Given the description of an element on the screen output the (x, y) to click on. 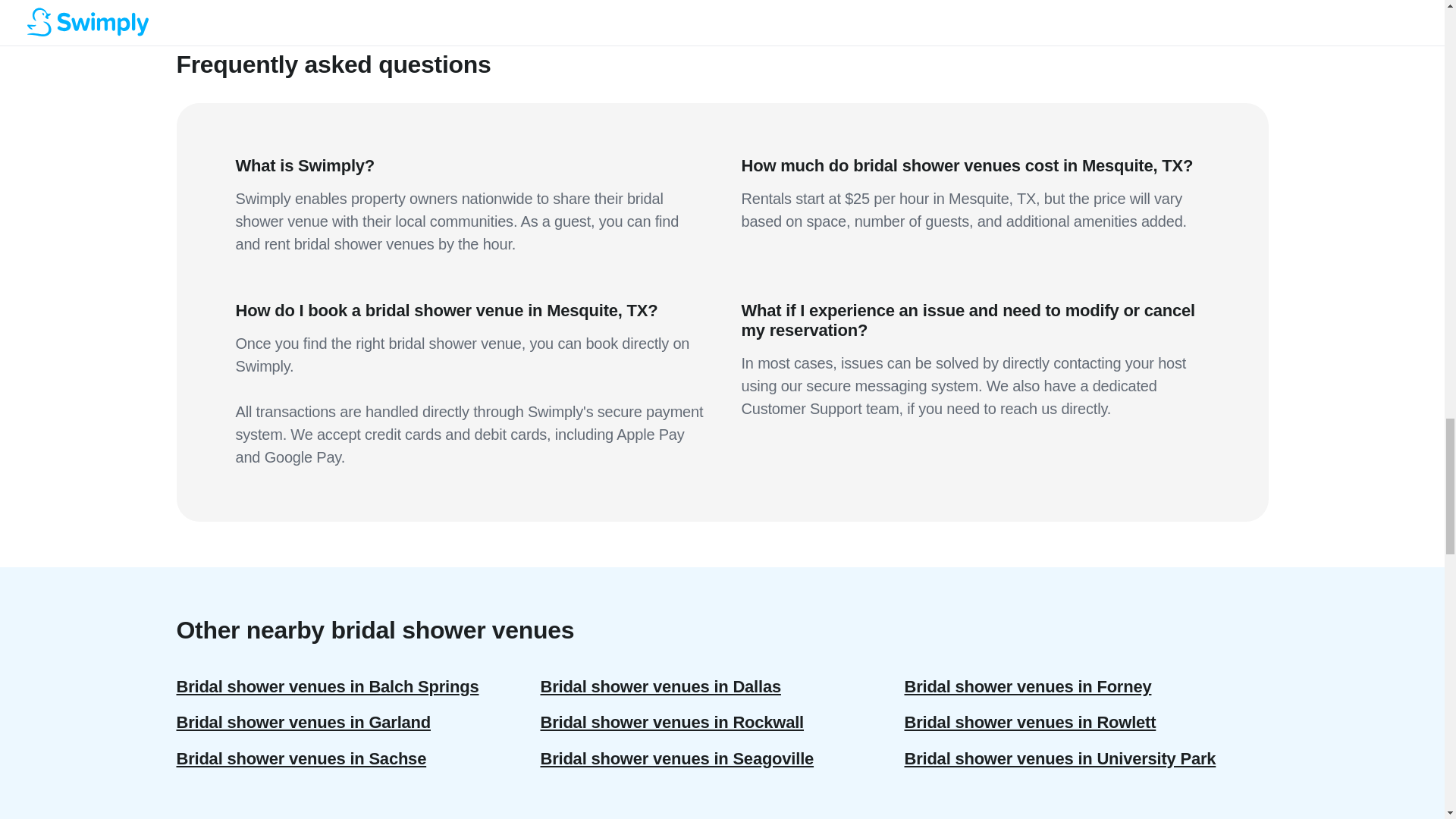
Bridal shower venues in Forney (1086, 686)
Bridal shower venues in Rowlett (1086, 722)
Bridal shower venues in Rockwall (722, 722)
Bridal shower venues in Sachse (358, 758)
Bridal shower venues in Seagoville (722, 758)
Bridal shower venues in Dallas (722, 686)
Bridal shower venues in Balch Springs (358, 686)
Bridal shower venues in University Park (1086, 758)
Bridal shower venues in Garland (358, 722)
